Given the description of an element on the screen output the (x, y) to click on. 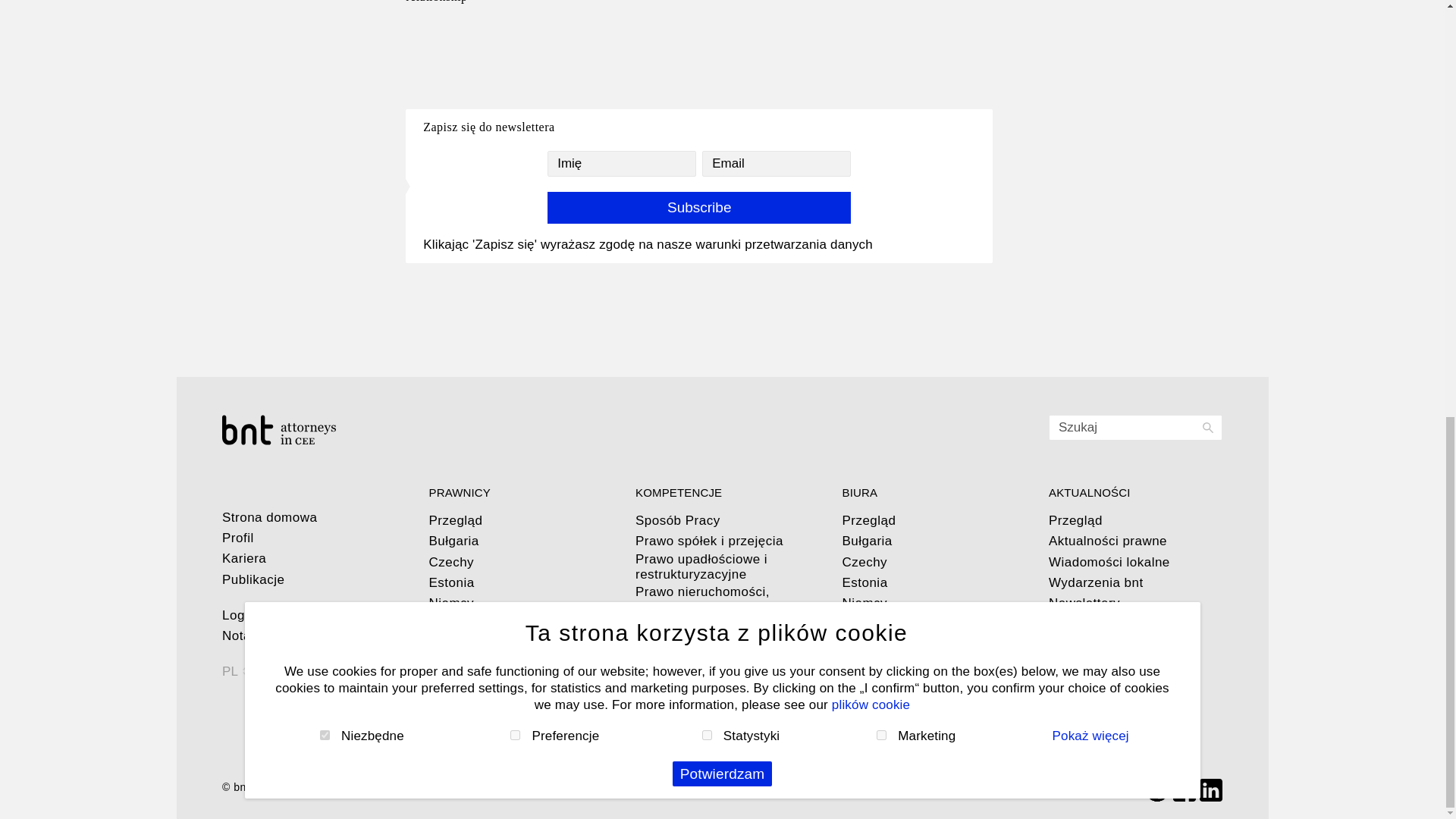
Visit us on Linkedin (1211, 789)
Legal and Tax Consultancy in Central and Eastern Europe (243, 787)
Szukaj (1135, 427)
Szukaj (1135, 427)
bnt attorneys for Central and Eastern Europe (309, 429)
Visit us on Facebook (1184, 789)
